Given the description of an element on the screen output the (x, y) to click on. 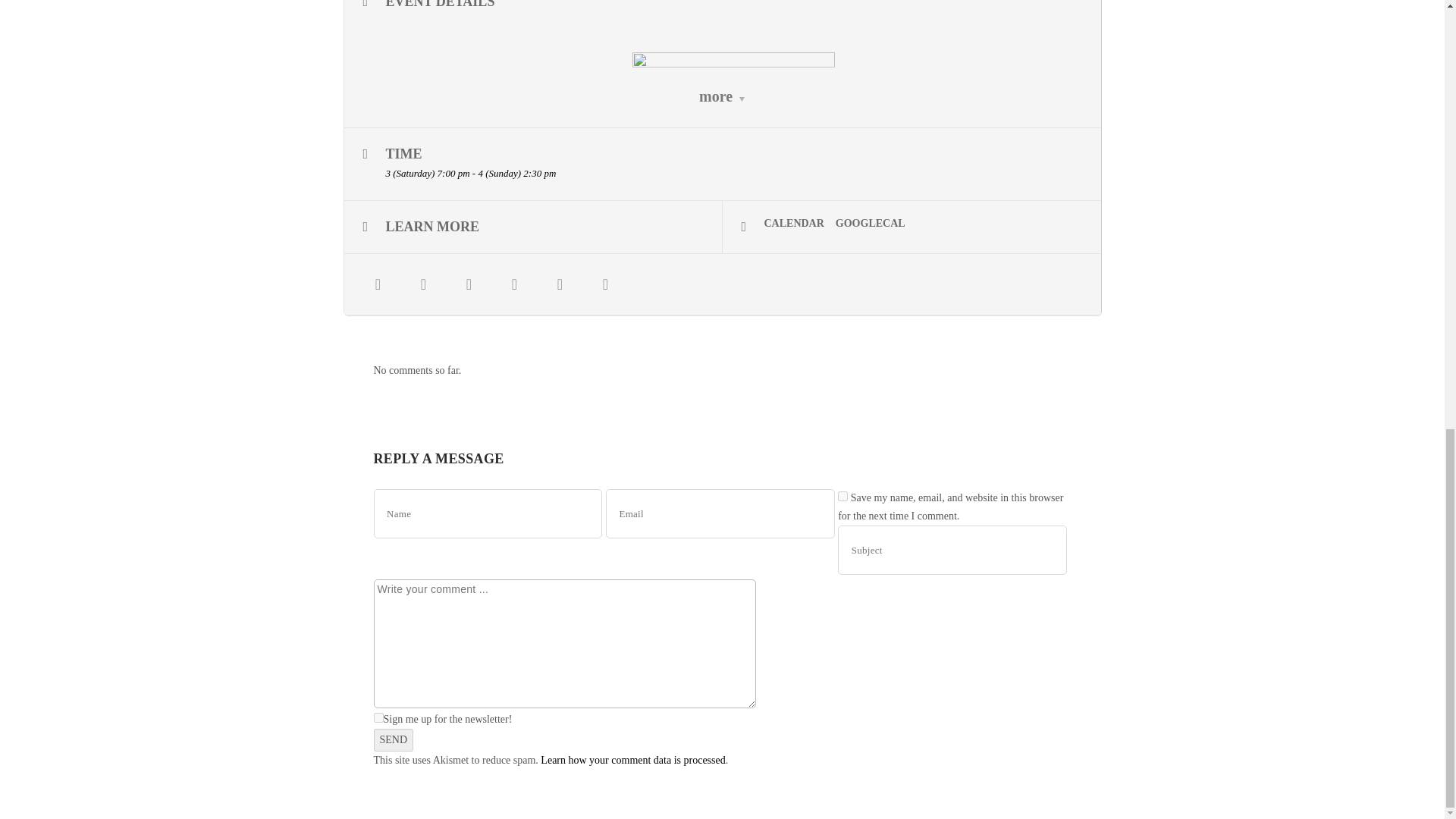
Share on Twitter (423, 284)
LEARN MORE (532, 226)
1 (377, 717)
Learn how your comment data is processed (632, 759)
yes (842, 496)
SEND (392, 739)
Add to your calendar (799, 223)
GOOGLECAL (876, 223)
SEND (392, 739)
CALENDAR (799, 223)
Add to google calendar (876, 223)
